Given the description of an element on the screen output the (x, y) to click on. 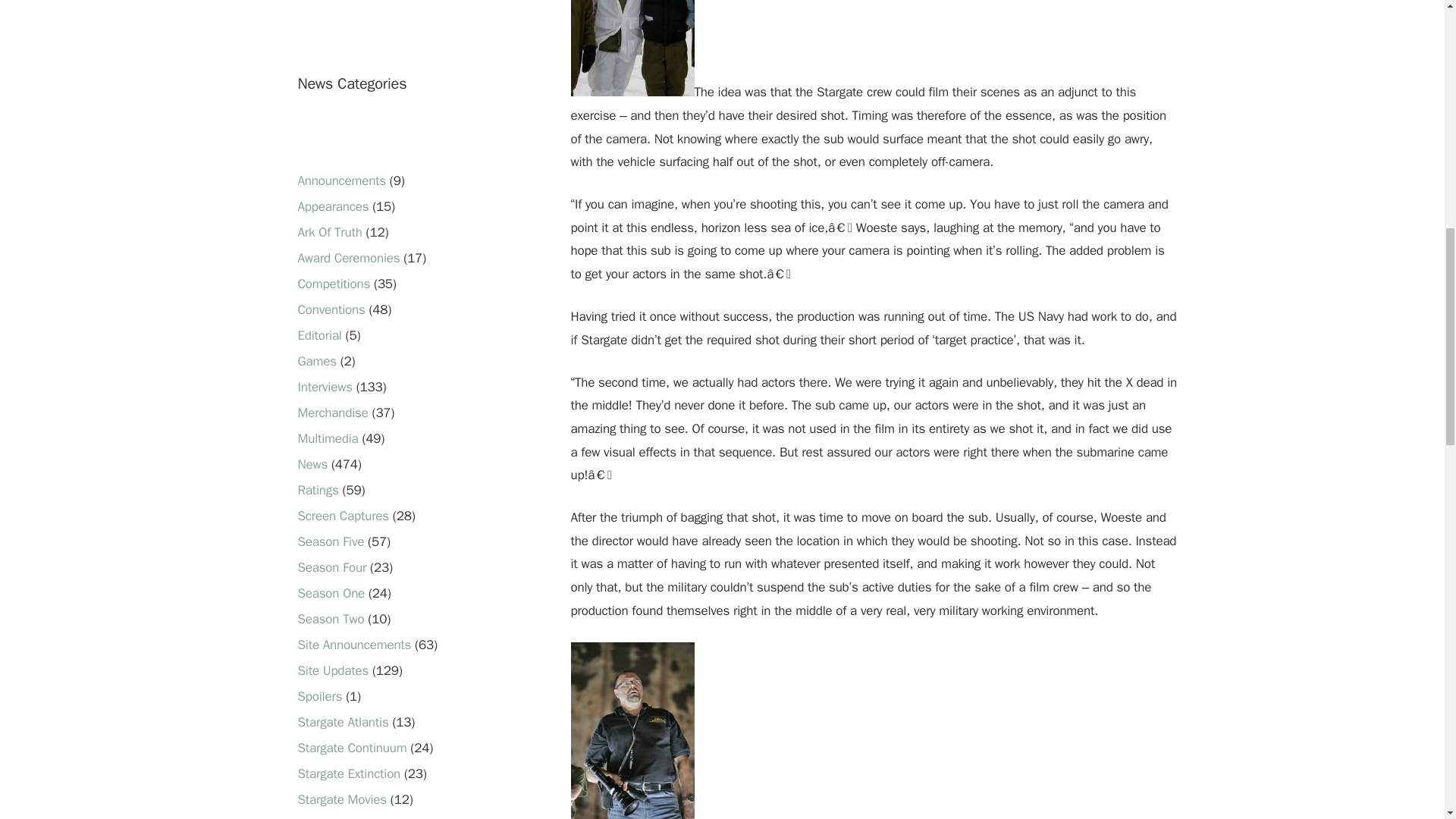
Editorial (318, 335)
Appearances (332, 206)
Ratings (317, 489)
Season One (331, 593)
Interviews (324, 386)
Screen Captures (342, 515)
Merchandise (332, 412)
Season Four (331, 567)
Multimedia (327, 438)
Conventions (331, 309)
Scroll back to top (1406, 720)
Ark Of Truth (329, 232)
Games (316, 360)
Competitions (333, 283)
Announcements (341, 180)
